Given the description of an element on the screen output the (x, y) to click on. 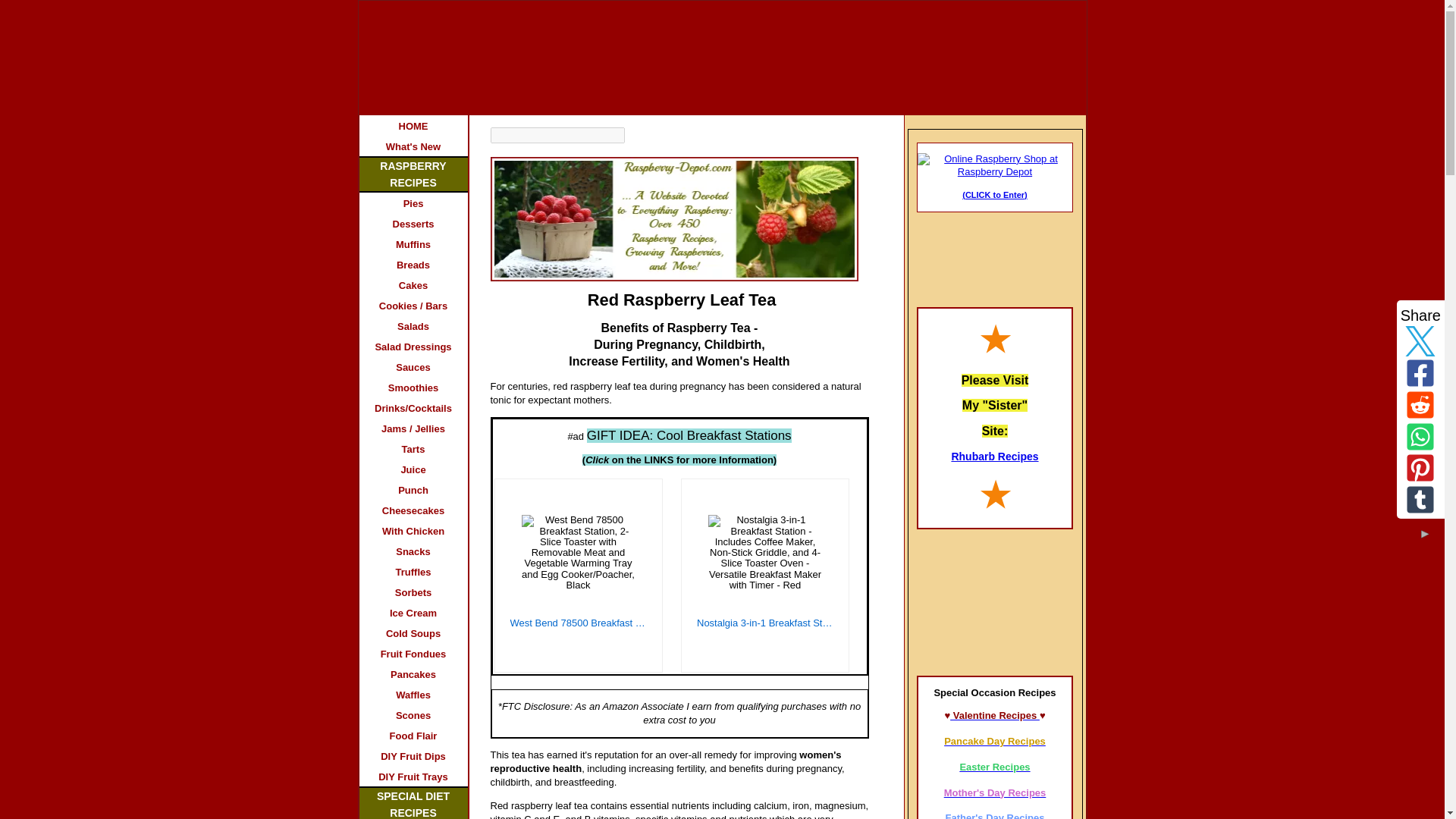
Muffins (413, 243)
What's New (413, 145)
Raspberry Depot Facebook Page (994, 250)
HOME (413, 125)
Go to Raspberry Shop - Buy Raspberry Plants Online and More! (994, 171)
Heart Shaped Recipes with Pictures  (995, 599)
Desserts (413, 222)
Pies (413, 202)
